Given the description of an element on the screen output the (x, y) to click on. 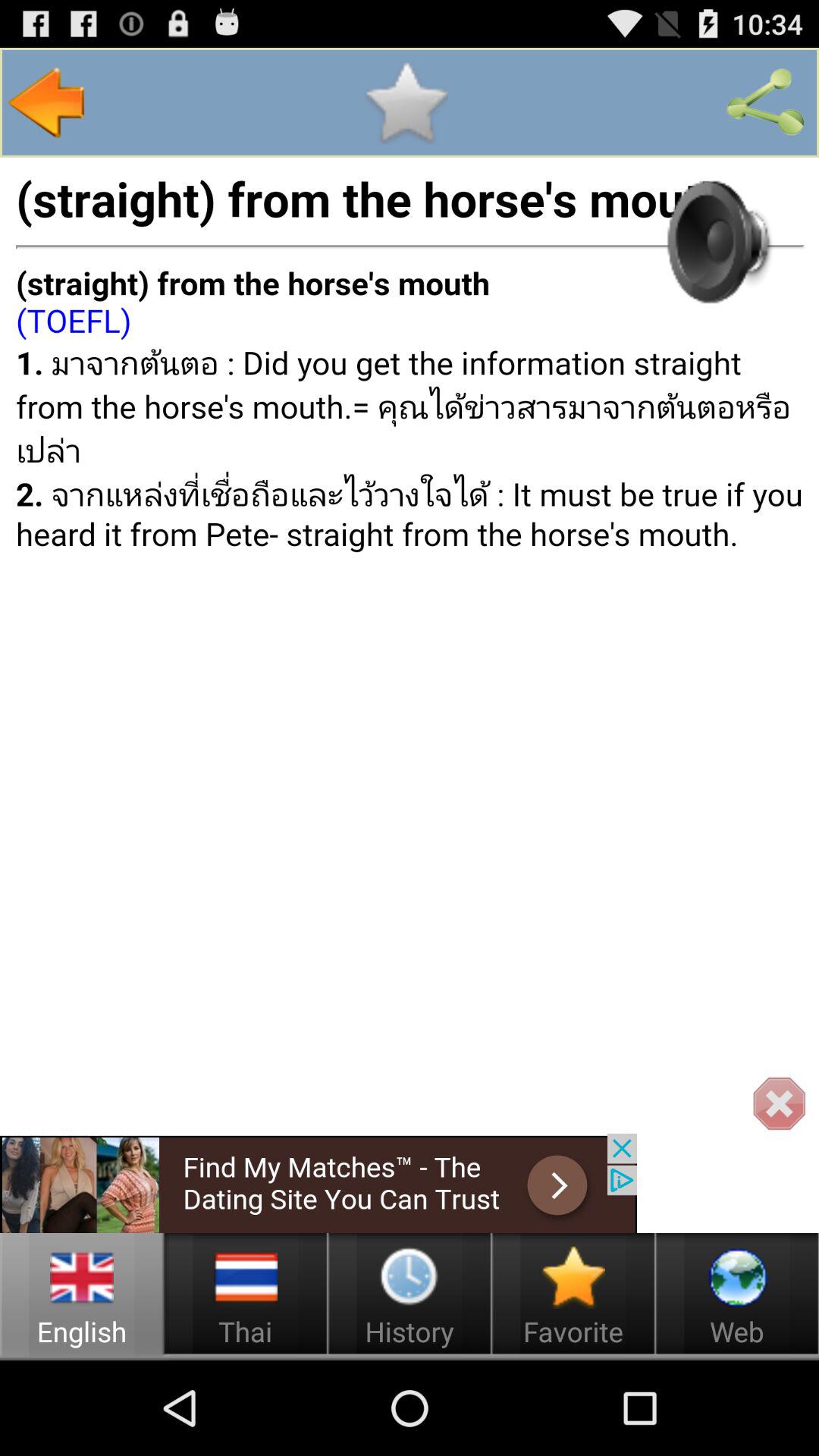
switch on the bookmark (406, 102)
